Given the description of an element on the screen output the (x, y) to click on. 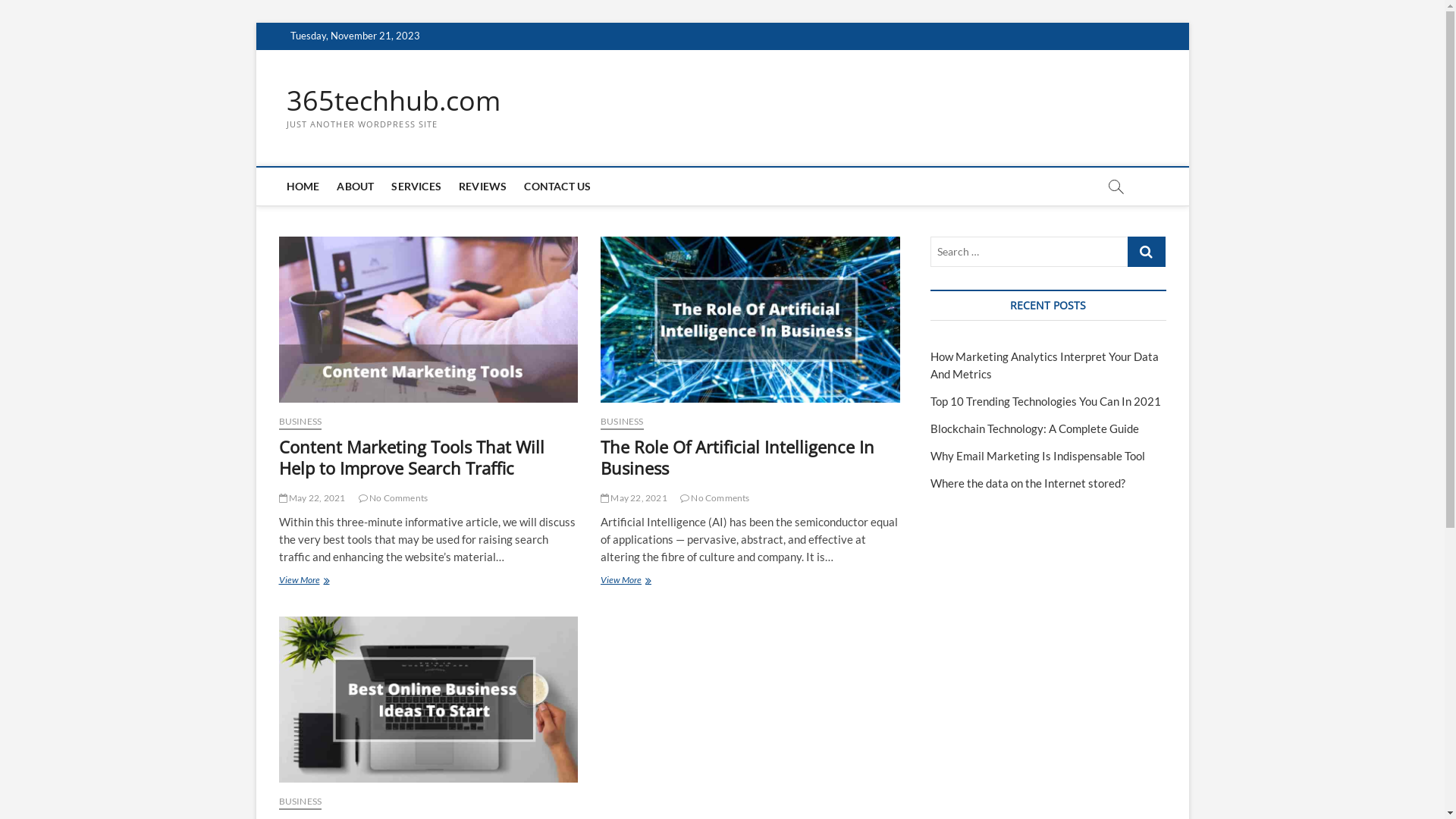
BUSINESS Element type: text (300, 802)
No Comments Element type: text (393, 497)
BUSINESS Element type: text (621, 422)
SERVICES Element type: text (415, 186)
365techhub.com Element type: text (393, 100)
Top 10 Trending Technologies You Can In 2021 Element type: text (1044, 400)
Where the data on the Internet stored? Element type: text (1026, 482)
View More
The Role Of Artificial Intelligence In Business Element type: text (750, 581)
How Marketing Analytics Interpret Your Data And Metrics Element type: text (1043, 364)
REVIEWS Element type: text (482, 186)
BUSINESS Element type: text (300, 422)
May 22, 2021 Element type: text (633, 497)
Blockchain Technology: A Complete Guide Element type: text (1033, 428)
ABOUT Element type: text (355, 186)
No Comments Element type: text (714, 497)
Best Online Business Ideas To Start In 2021 Element type: hover (428, 699)
The Role Of Artificial Intelligence In Business Element type: hover (750, 319)
HOME Element type: text (303, 186)
Skip to content Element type: text (254, 21)
May 22, 2021 Element type: text (312, 497)
CONTACT US Element type: text (557, 186)
The Role Of Artificial Intelligence In Business Element type: text (737, 457)
Why Email Marketing Is Indispensable Tool Element type: text (1036, 455)
